Given the description of an element on the screen output the (x, y) to click on. 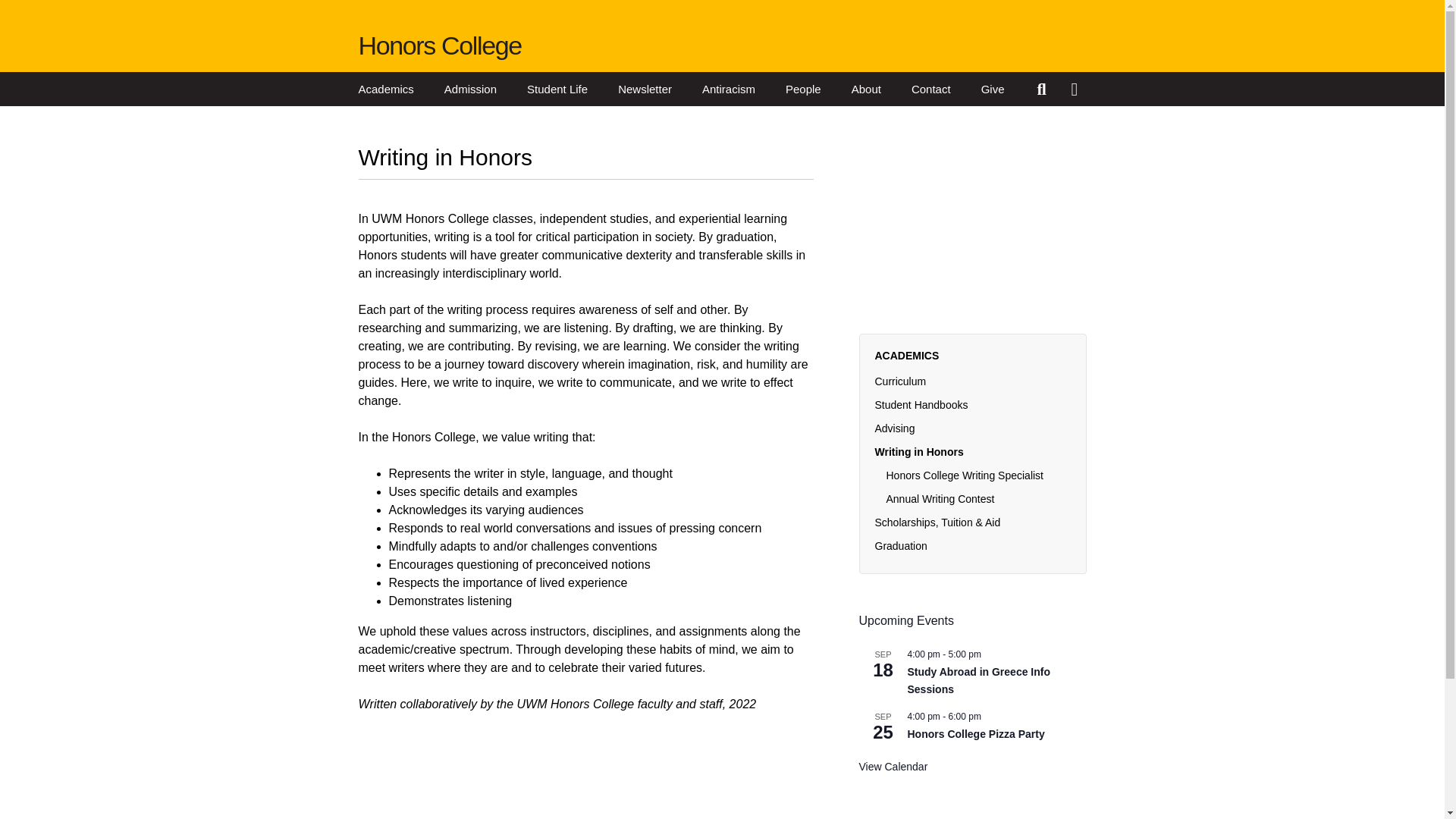
Study Abroad in Greece Info Sessions (978, 680)
View more events. (893, 766)
Honors College (439, 45)
Academics (385, 89)
Search (1043, 89)
Honors College Pizza Party (975, 734)
UWM Menu (1078, 89)
Honors College (439, 45)
